Given the description of an element on the screen output the (x, y) to click on. 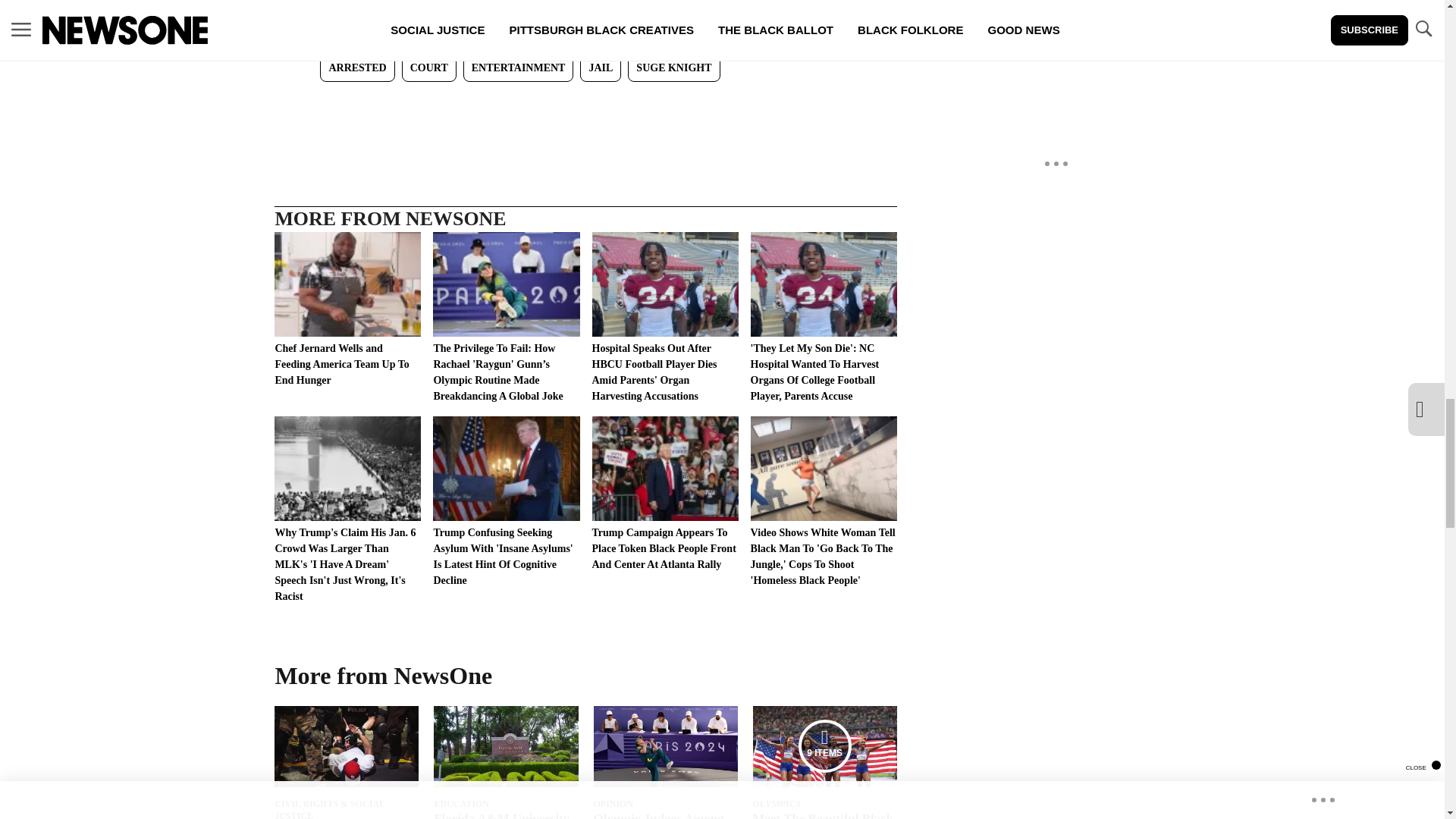
Chef Jernard Wells and Feeding America Team Up To End Hunger (347, 309)
Media Playlist (824, 746)
Vuukle Sharebar Widget (585, 106)
COURT (429, 67)
JAIL (600, 67)
ENTERTAINMENT (518, 67)
ARRESTED (357, 67)
SUGE KNIGHT (673, 67)
